Given the description of an element on the screen output the (x, y) to click on. 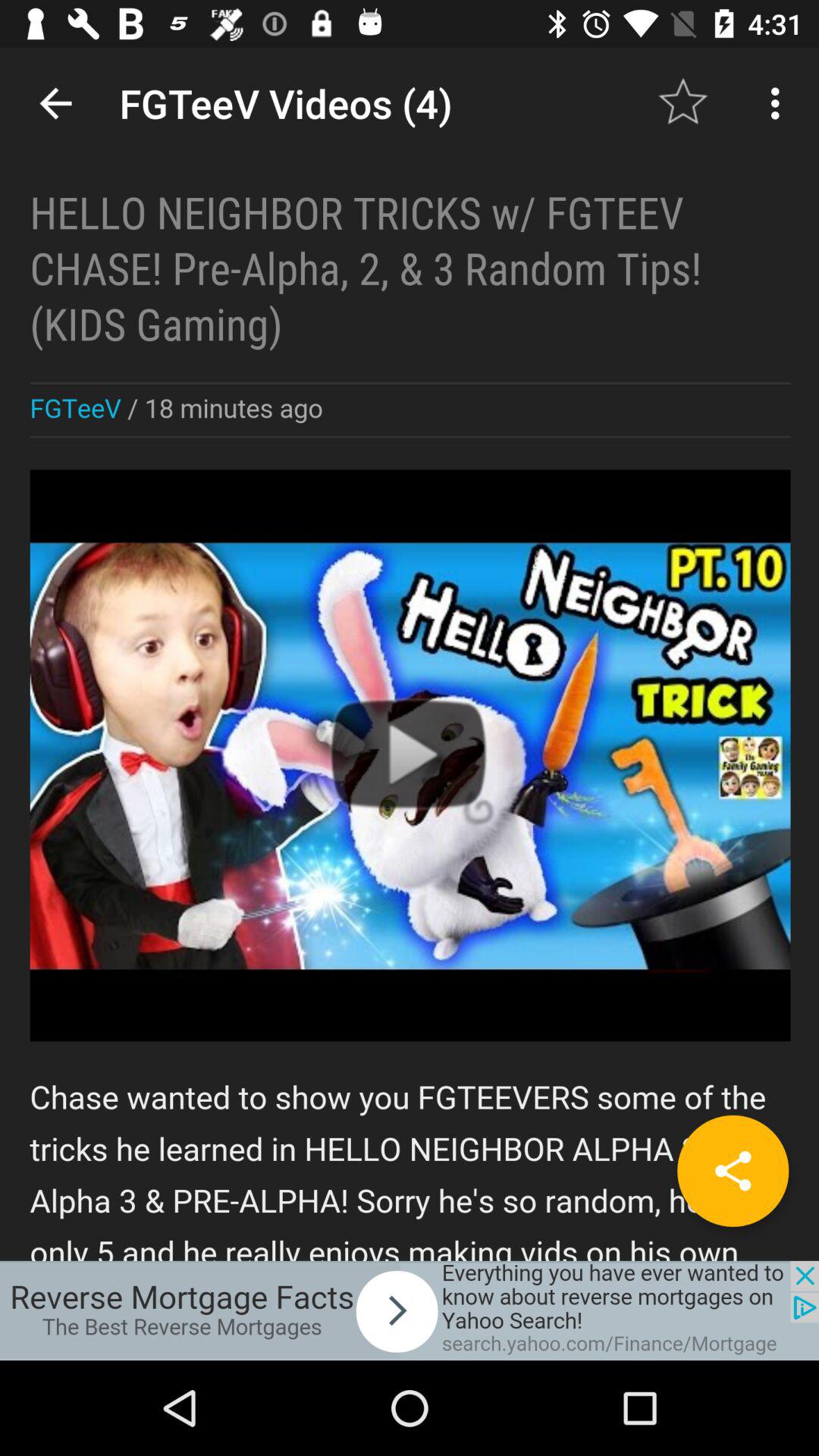
watch the video (409, 653)
